Given the description of an element on the screen output the (x, y) to click on. 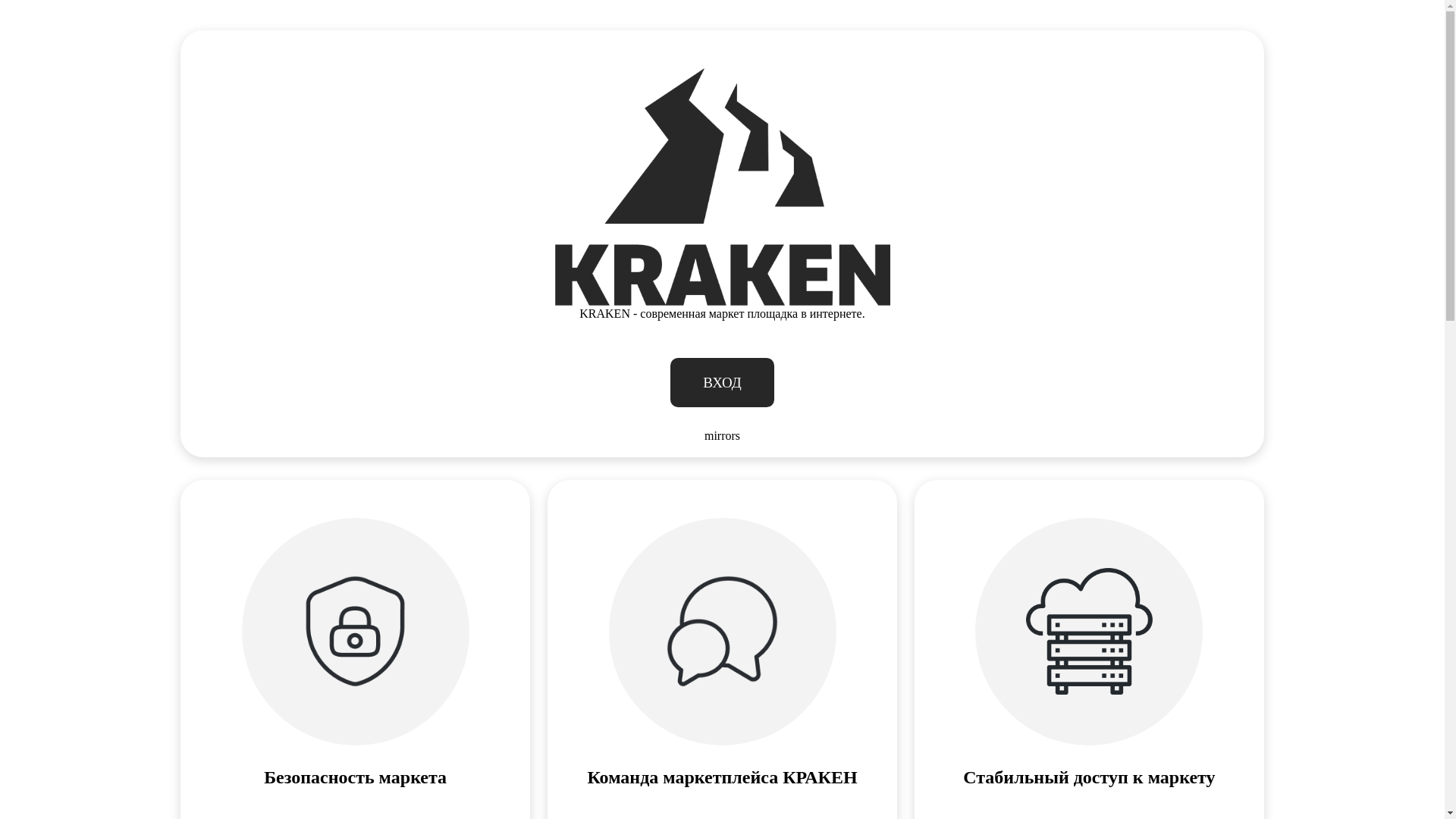
mirrors Element type: text (722, 435)
